Given the description of an element on the screen output the (x, y) to click on. 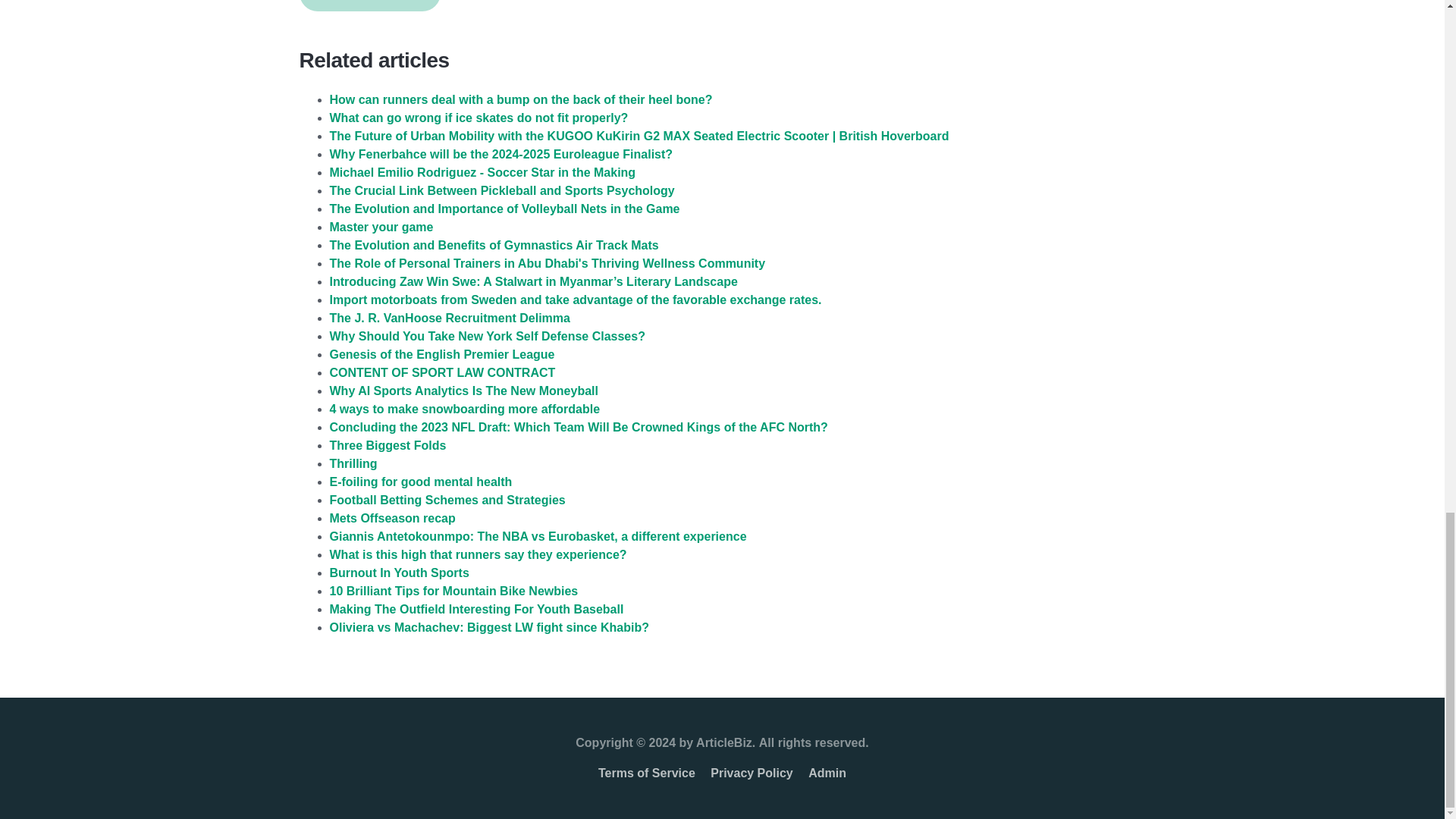
Leave a comment (368, 5)
Master your game (380, 226)
The Crucial Link Between Pickleball and Sports Psychology (501, 190)
Michael Emilio Rodriguez - Soccer Star in the Making (481, 172)
What can go wrong if ice skates do not fit properly? (478, 117)
The Evolution and Importance of Volleyball Nets in the Game (504, 208)
Why Fenerbahce will be the 2024-2025 Euroleague Finalist? (500, 154)
The Evolution and Benefits of Gymnastics Air Track Mats (493, 245)
